Given the description of an element on the screen output the (x, y) to click on. 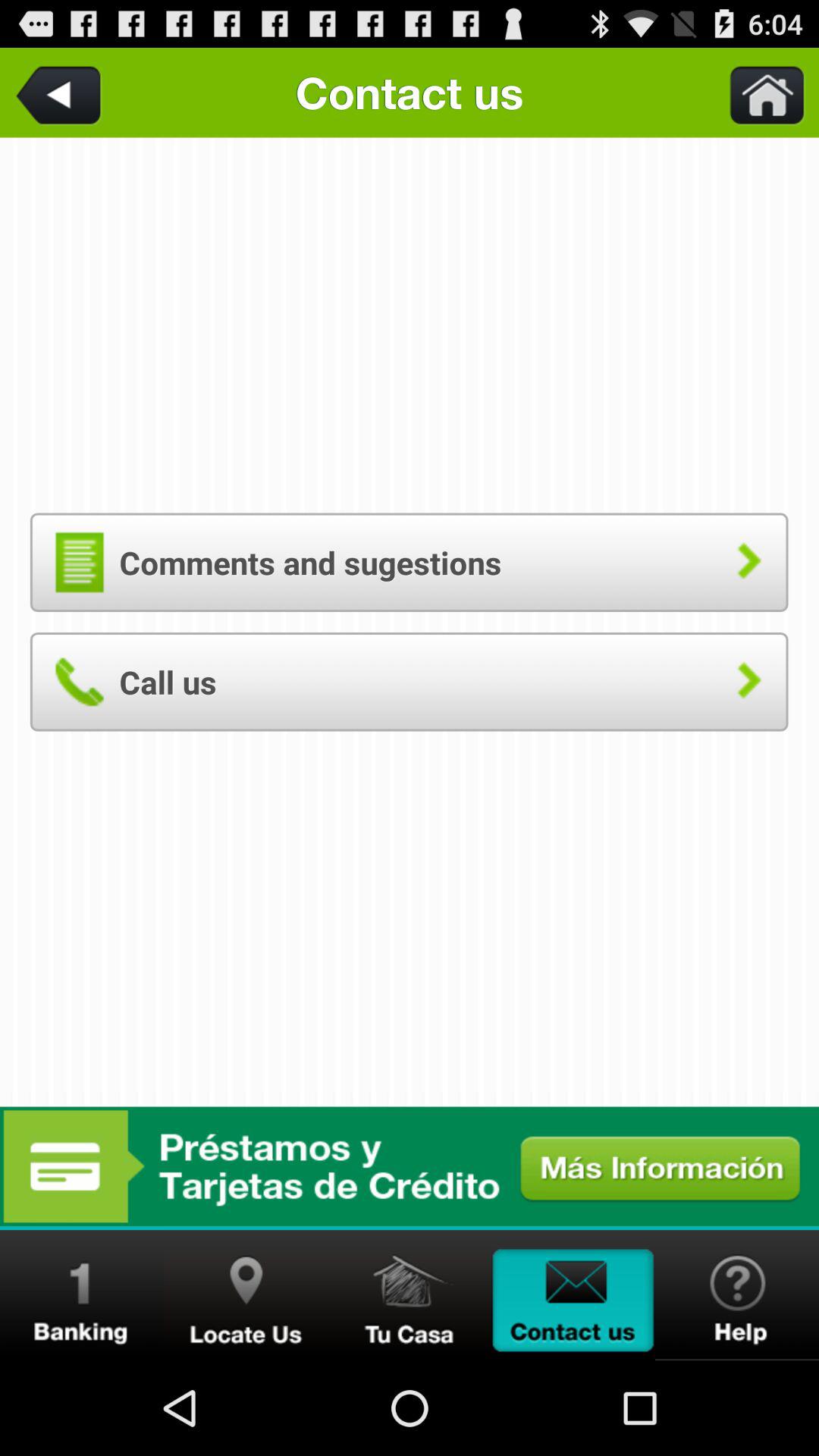
toggle locate us option (245, 1295)
